Given the description of an element on the screen output the (x, y) to click on. 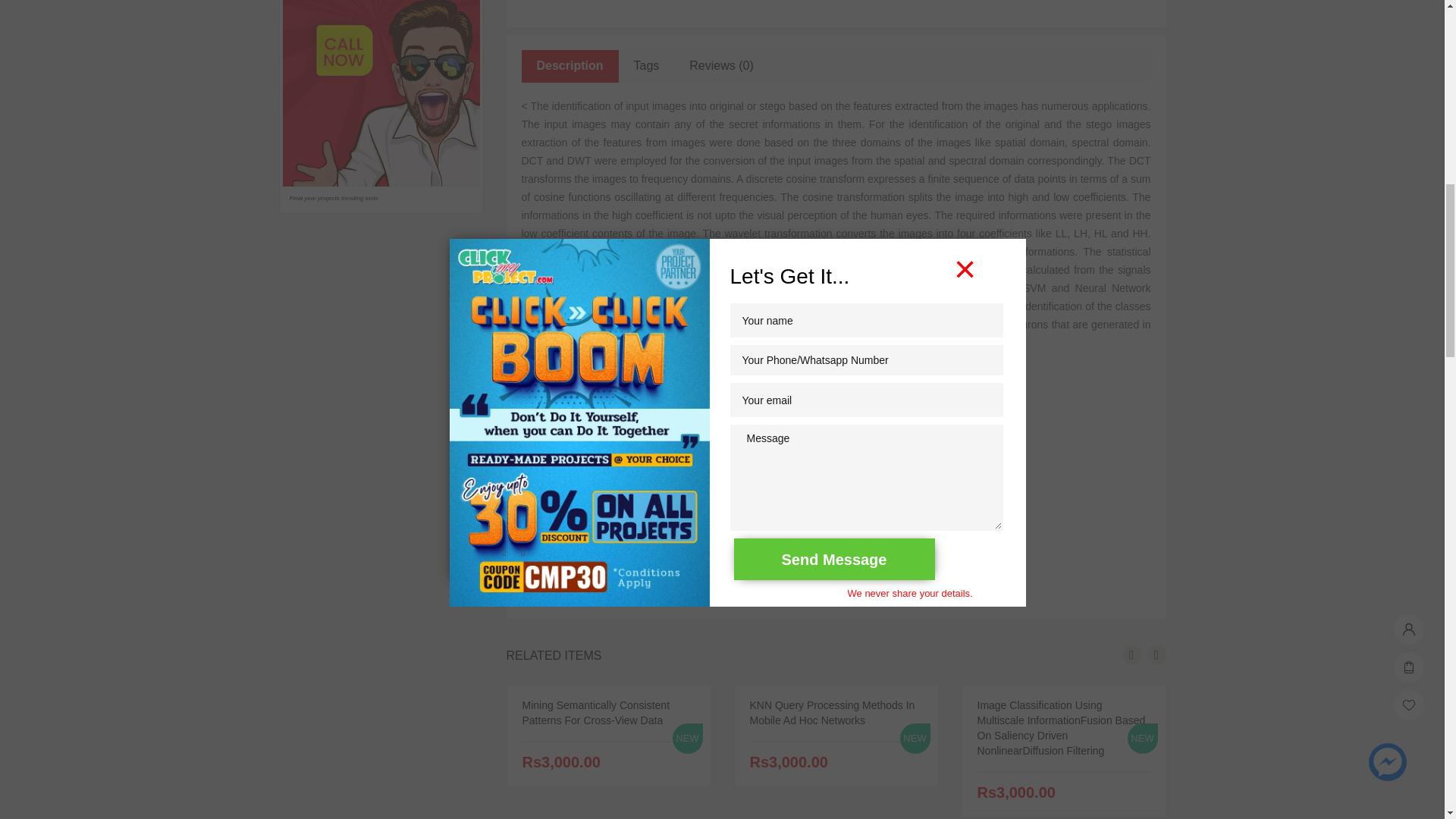
YouTube video player (810, 471)
Final year projects trending tools (380, 93)
